Given the description of an element on the screen output the (x, y) to click on. 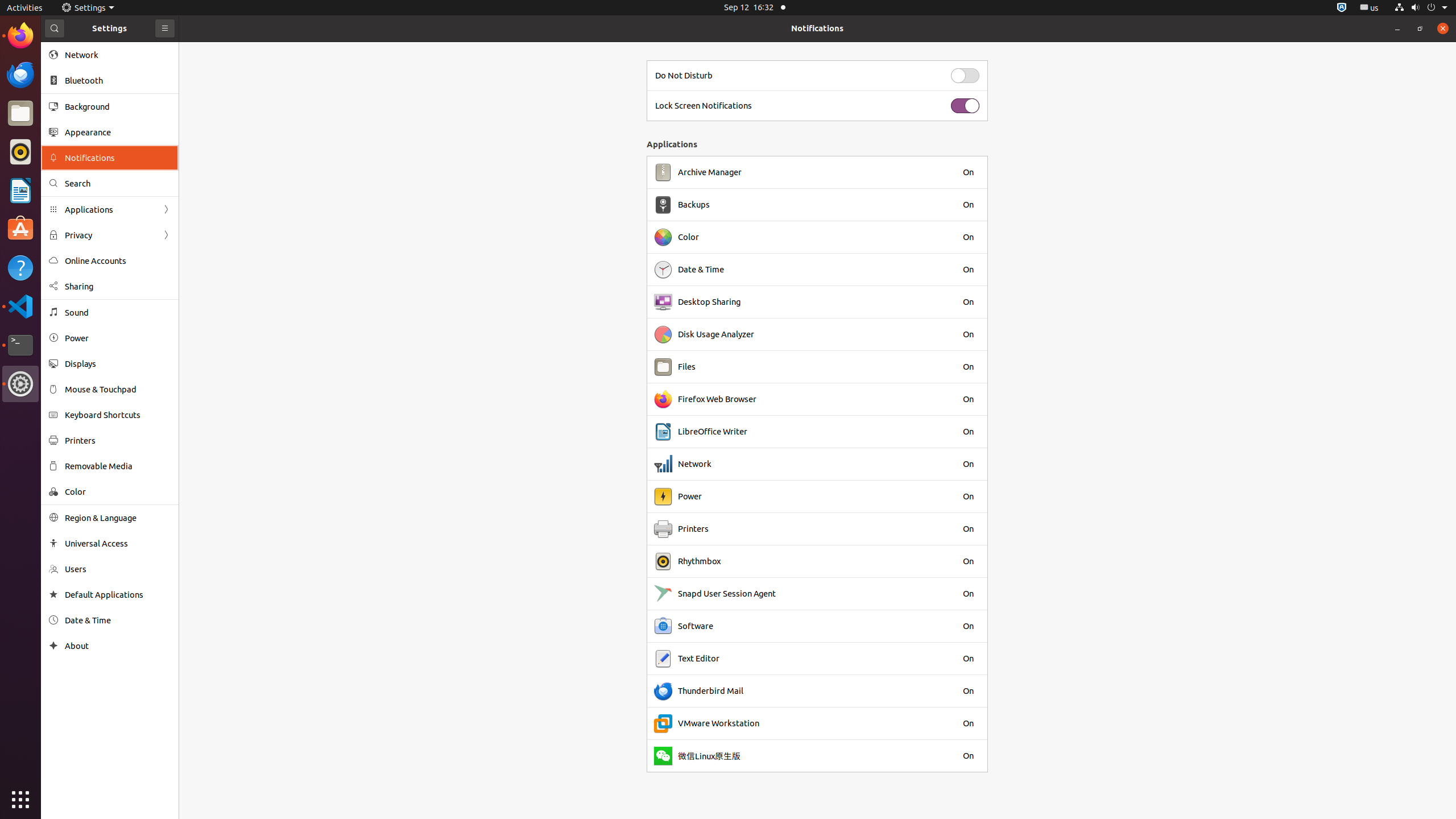
Default Applications Element type: label (117, 594)
Notifications Element type: label (817, 27)
Text Editor Element type: label (698, 658)
IsaHelpMain.desktop Element type: label (75, 170)
Forward Element type: icon (165, 235)
